Given the description of an element on the screen output the (x, y) to click on. 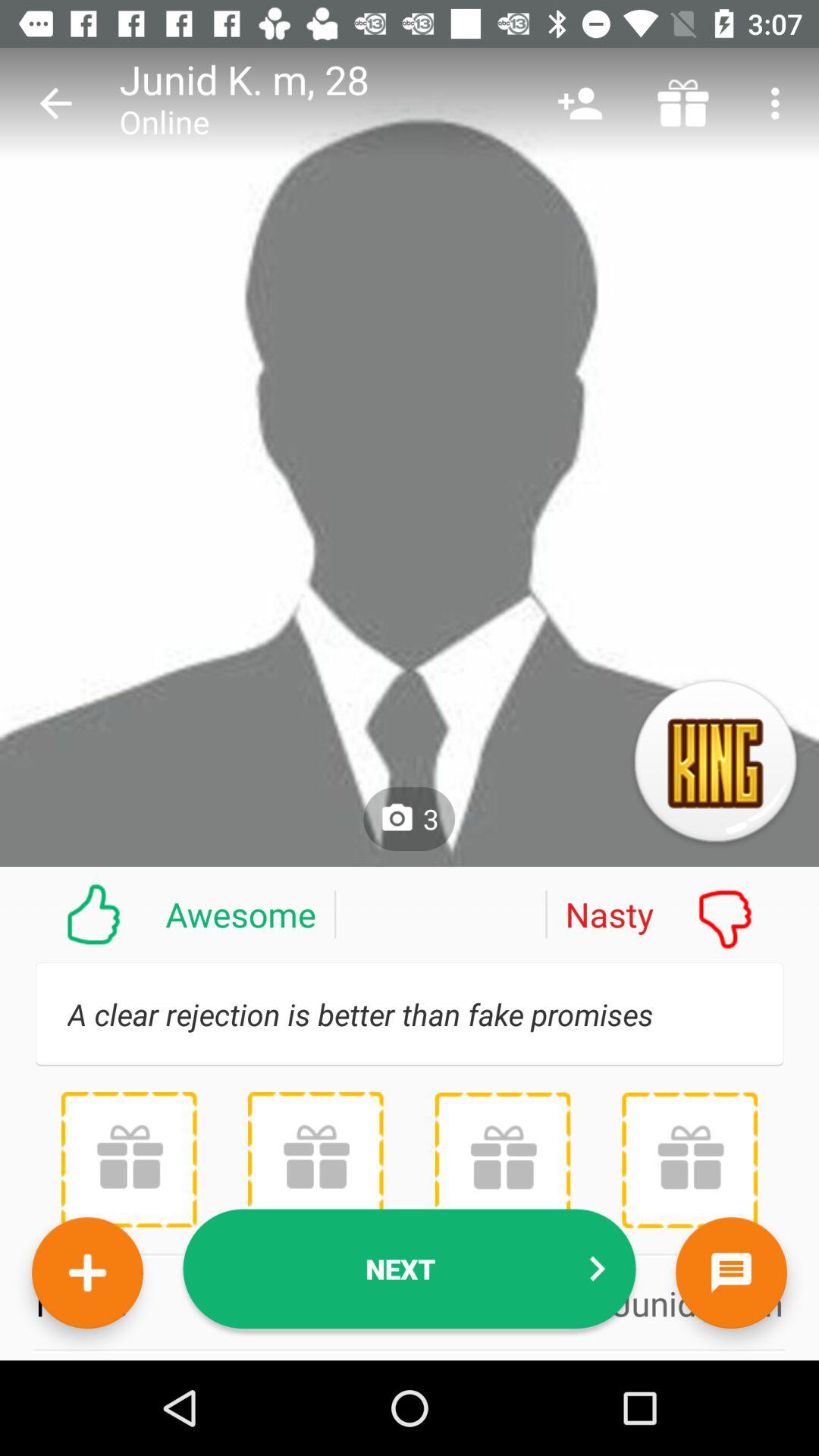
swipe until the nasty item (682, 914)
